Given the description of an element on the screen output the (x, y) to click on. 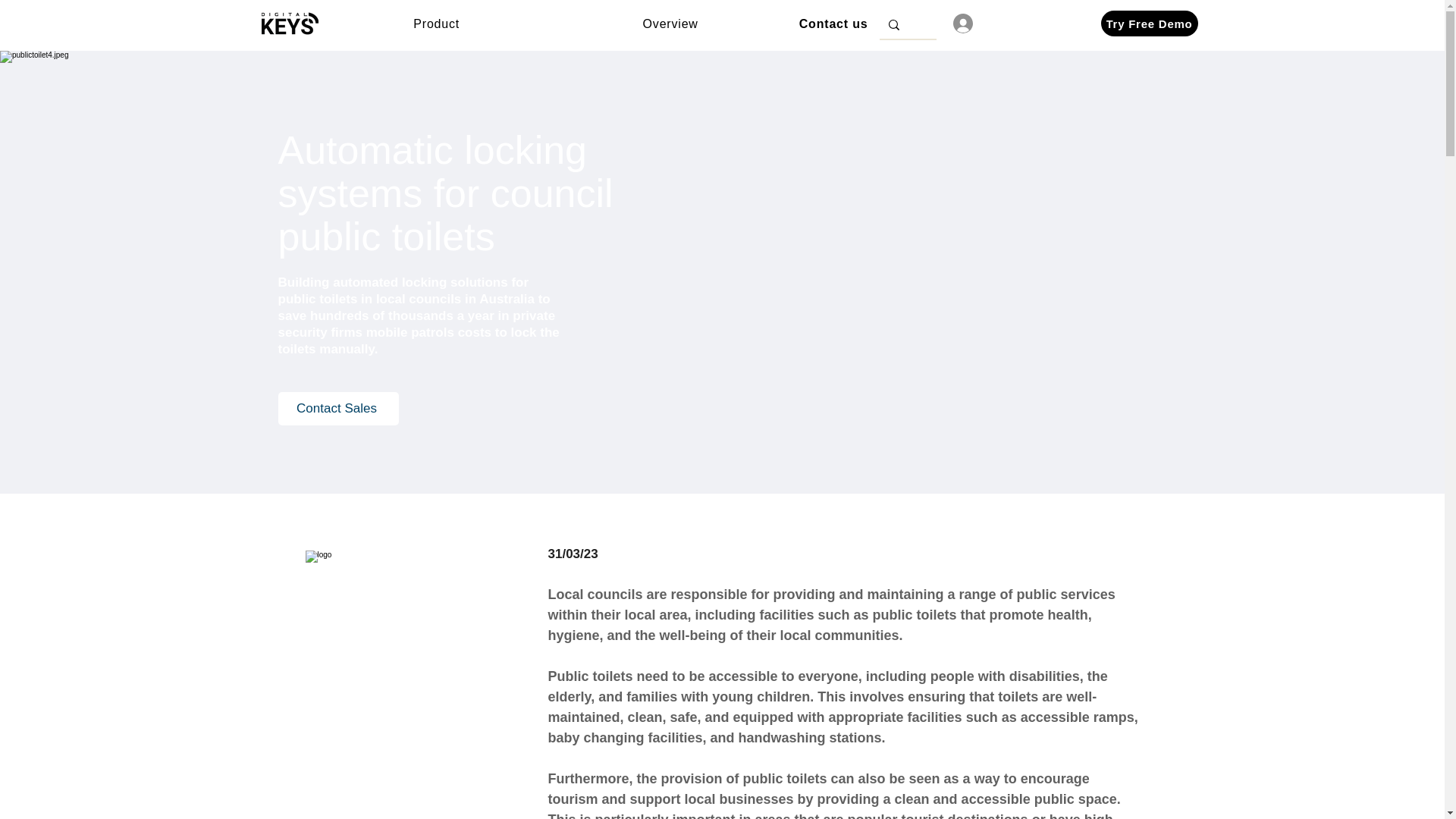
Contact Sales (337, 408)
Try Free Demo (1149, 23)
Anmelden (993, 23)
 Contact us (830, 23)
